Given the description of an element on the screen output the (x, y) to click on. 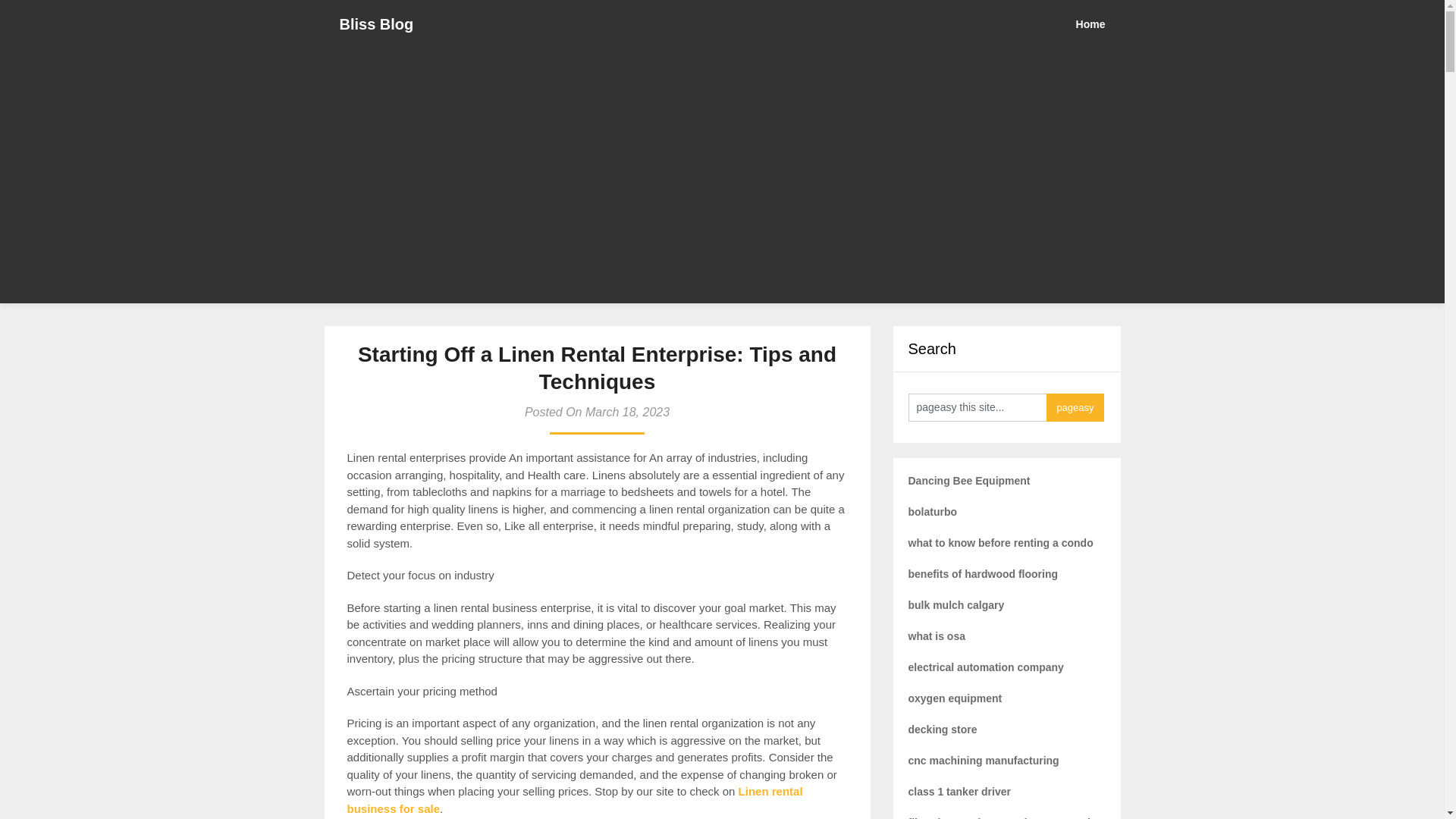
bulk mulch calgary (956, 604)
fiberglass underground storage tanks (1003, 817)
electrical automation company (986, 666)
pageasy (1075, 407)
what is osa (936, 635)
Home (1098, 24)
pageasy this site... (977, 407)
class 1 tanker driver (959, 791)
Linen rental business for sale (575, 799)
Dancing Bee Equipment (969, 480)
